Given the description of an element on the screen output the (x, y) to click on. 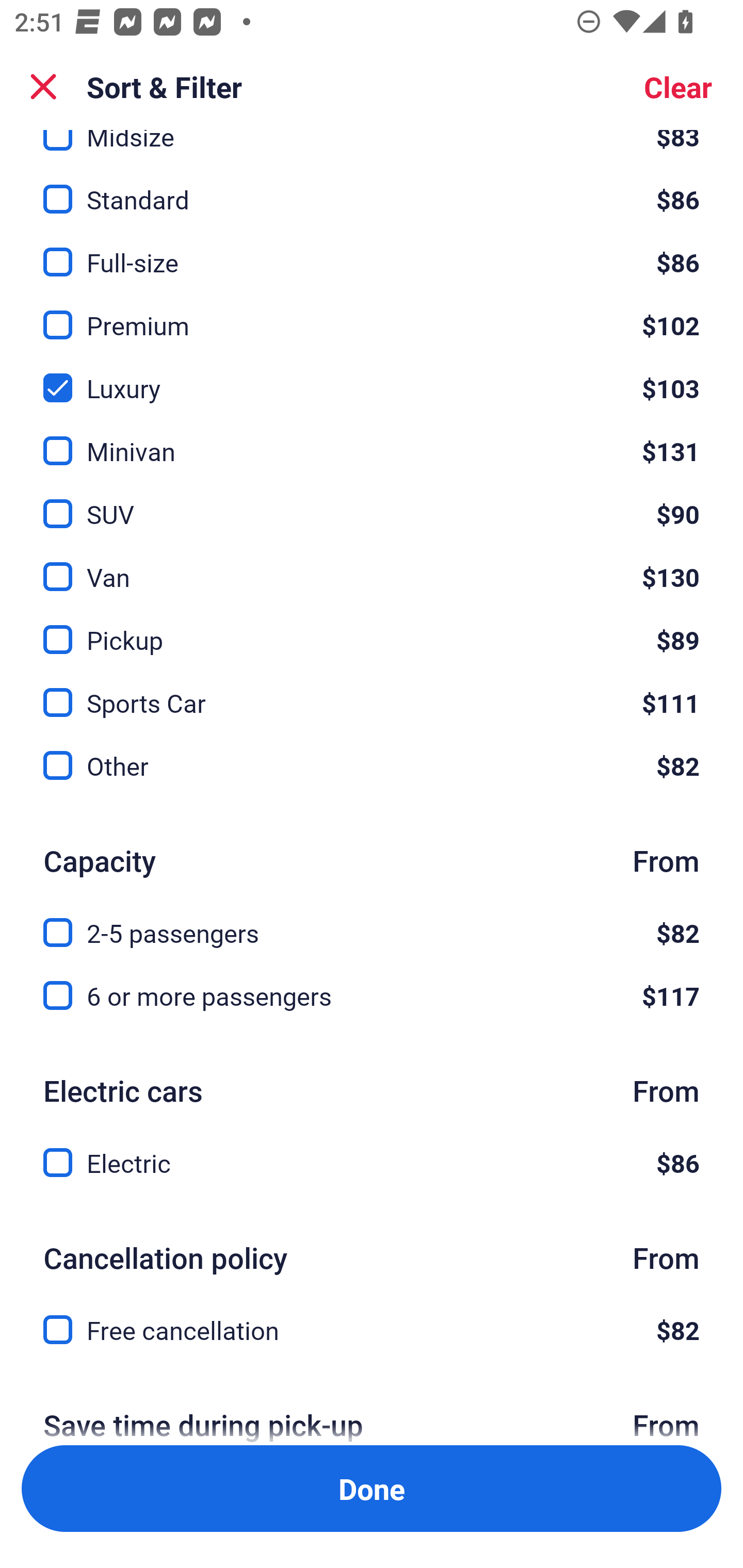
Close Sort and Filter (43, 86)
Clear (677, 86)
Midsize, $83 Midsize $83 (371, 143)
Standard, $86 Standard $86 (371, 187)
Full-size, $86 Full-size $86 (371, 250)
Premium, $102 Premium $102 (371, 313)
Luxury, $103 Luxury $103 (371, 375)
Minivan, $131 Minivan $131 (371, 438)
SUV, $90 SUV $90 (371, 501)
Van, $130 Van $130 (371, 565)
Pickup, $89 Pickup $89 (371, 628)
Sports Car, $111 Sports Car $111 (371, 691)
Other, $82 Other $82 (371, 765)
2-5 passengers, $82 2-5 passengers $82 (371, 921)
Electric, $86 Electric $86 (371, 1162)
Free cancellation, $82 Free cancellation $82 (371, 1330)
Apply and close Sort and Filter Done (371, 1488)
